Given the description of an element on the screen output the (x, y) to click on. 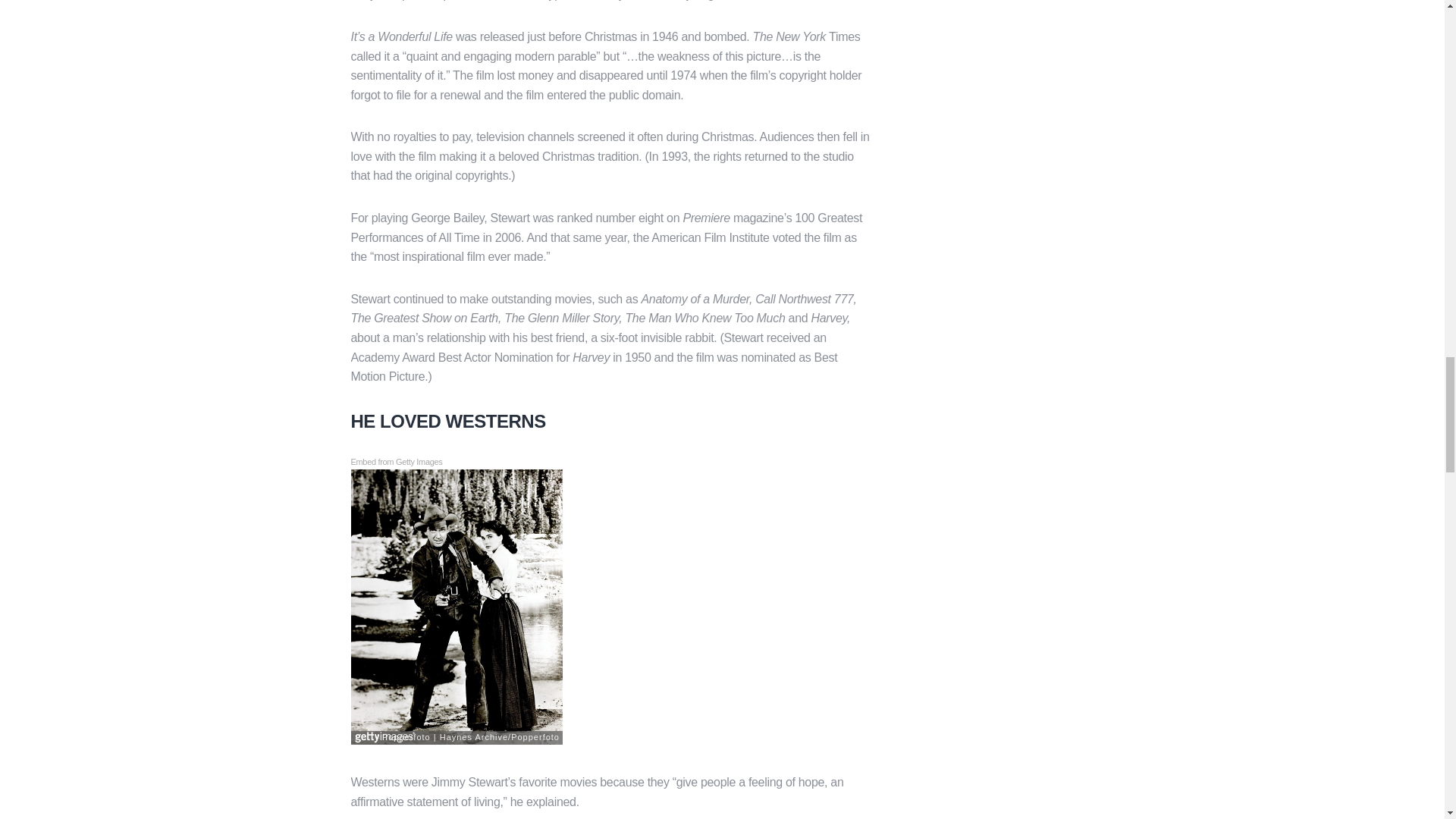
Embed from Getty Images (396, 462)
